Given the description of an element on the screen output the (x, y) to click on. 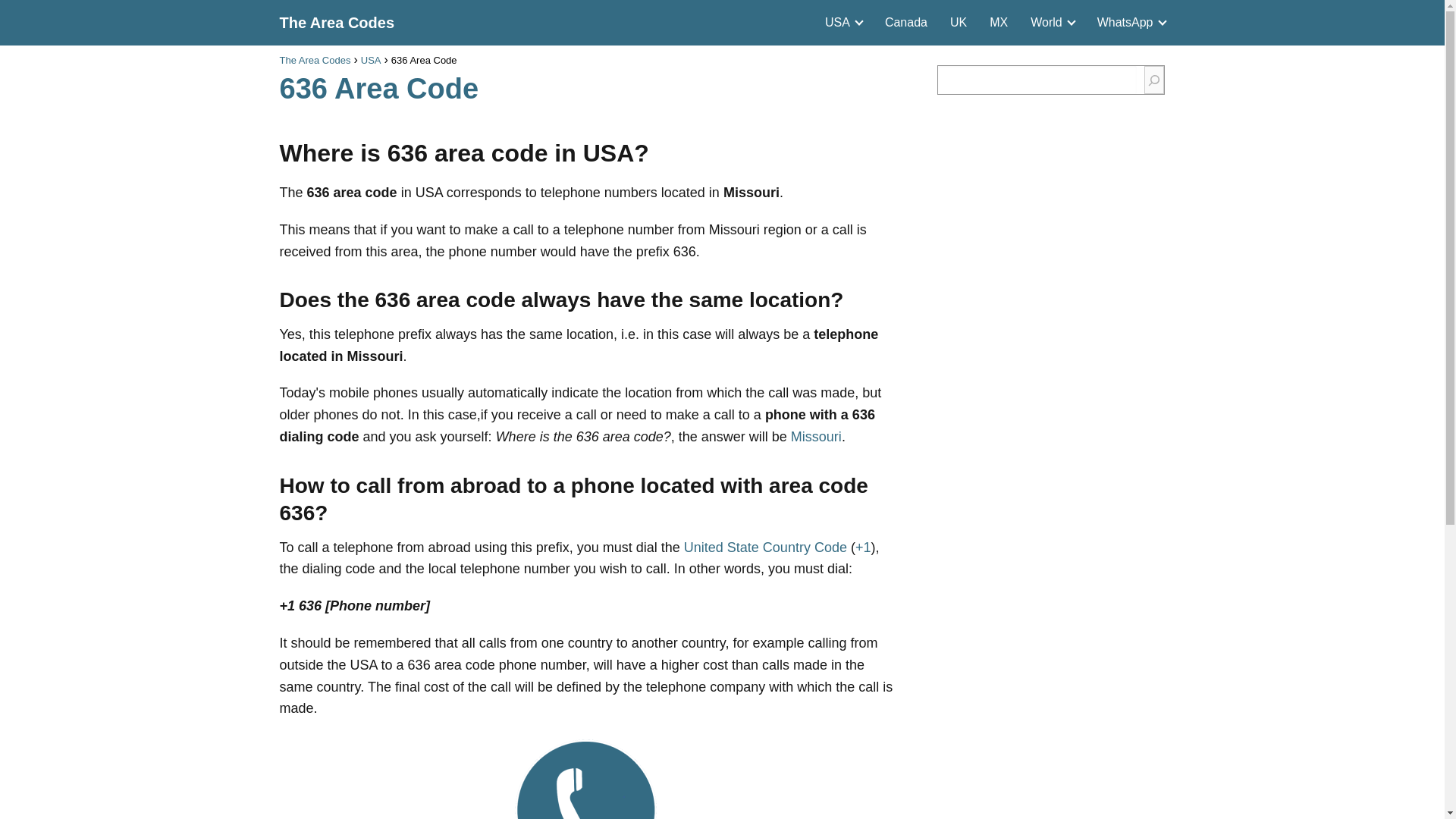
The Area Codes (336, 22)
MX (998, 21)
Canada (906, 21)
United State Country Code (765, 547)
USA Area Code (765, 547)
The Area Codes (314, 60)
USA (840, 21)
WhatsApp (1127, 21)
636 Area Code (586, 776)
World (1049, 21)
Area code Missouri (815, 436)
USA (371, 60)
Missouri (815, 436)
UK (958, 21)
